Given the description of an element on the screen output the (x, y) to click on. 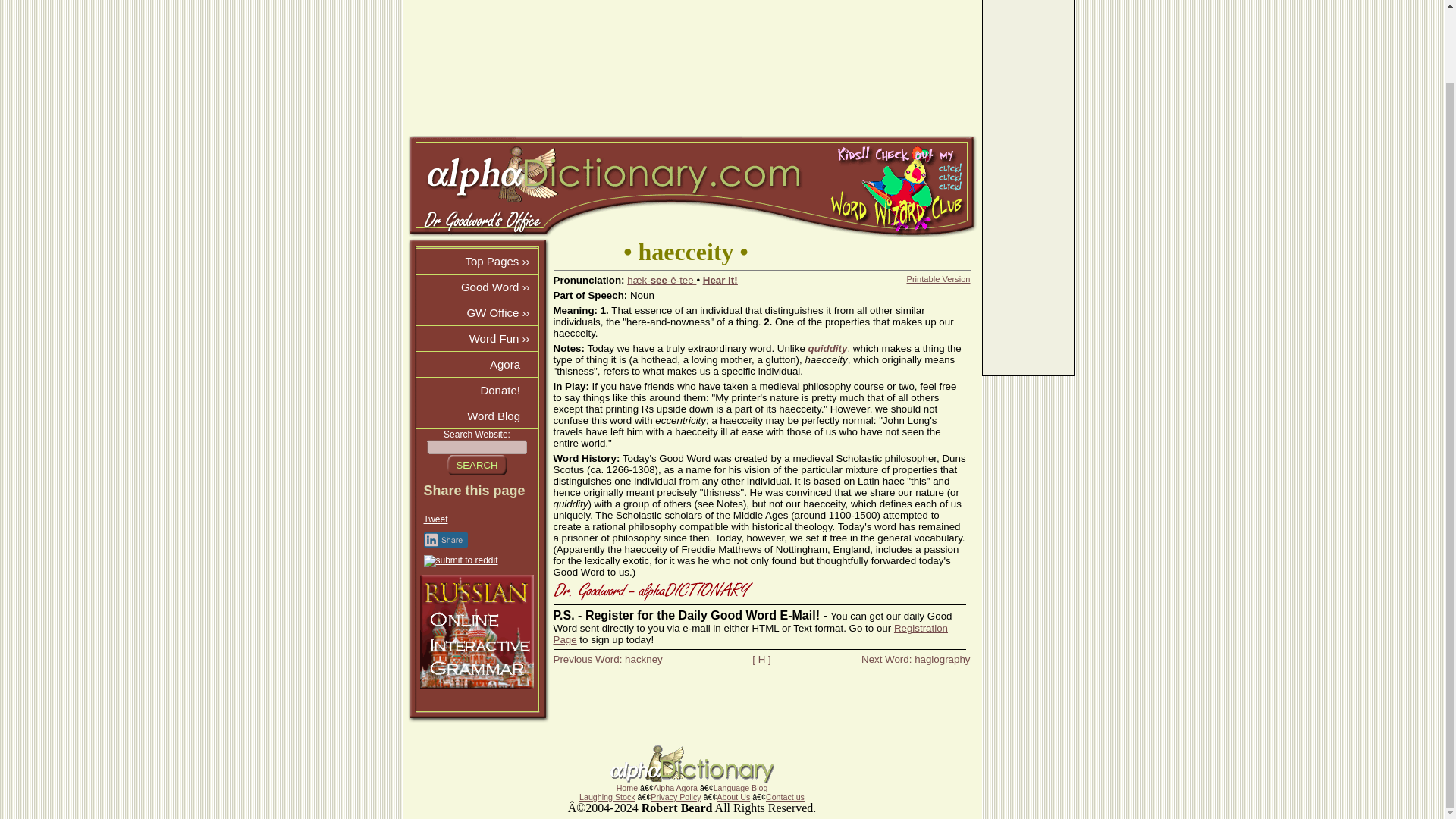
Printable Version (939, 278)
Advertisement (691, 67)
GW Office (475, 312)
Good Word (475, 286)
Previous Word: hackney (607, 659)
quiddity (827, 348)
Word Blog (475, 415)
Word Fun (475, 338)
Agora (475, 364)
Donate! (475, 389)
